Given the description of an element on the screen output the (x, y) to click on. 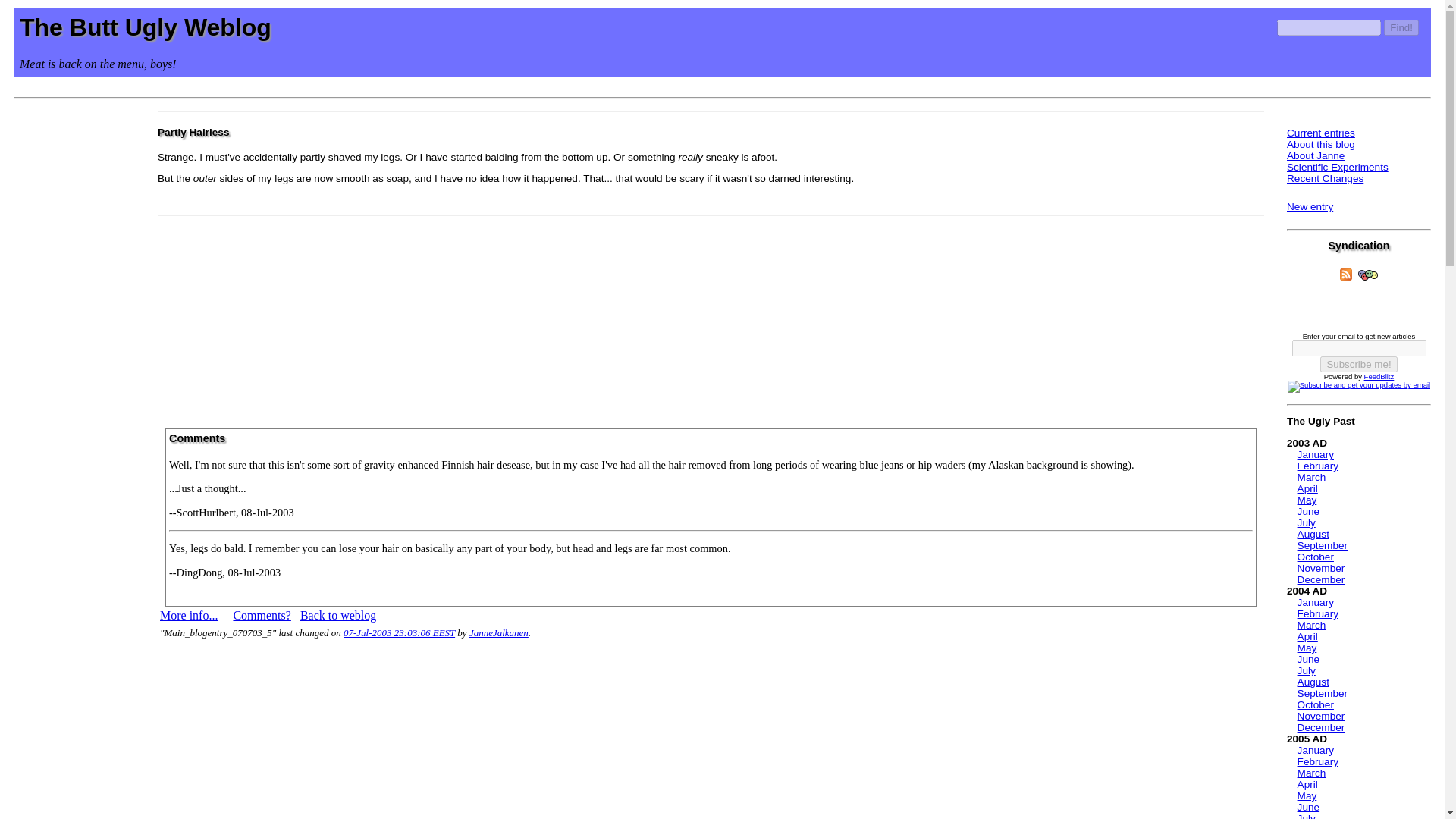
Subscribe and get your updates by email (1358, 386)
January (1315, 602)
June (1308, 511)
April (1307, 636)
More info... (188, 615)
Find! (1401, 27)
Find! (1401, 27)
March (1311, 477)
Comments? (260, 615)
Advertisement (710, 316)
